Given the description of an element on the screen output the (x, y) to click on. 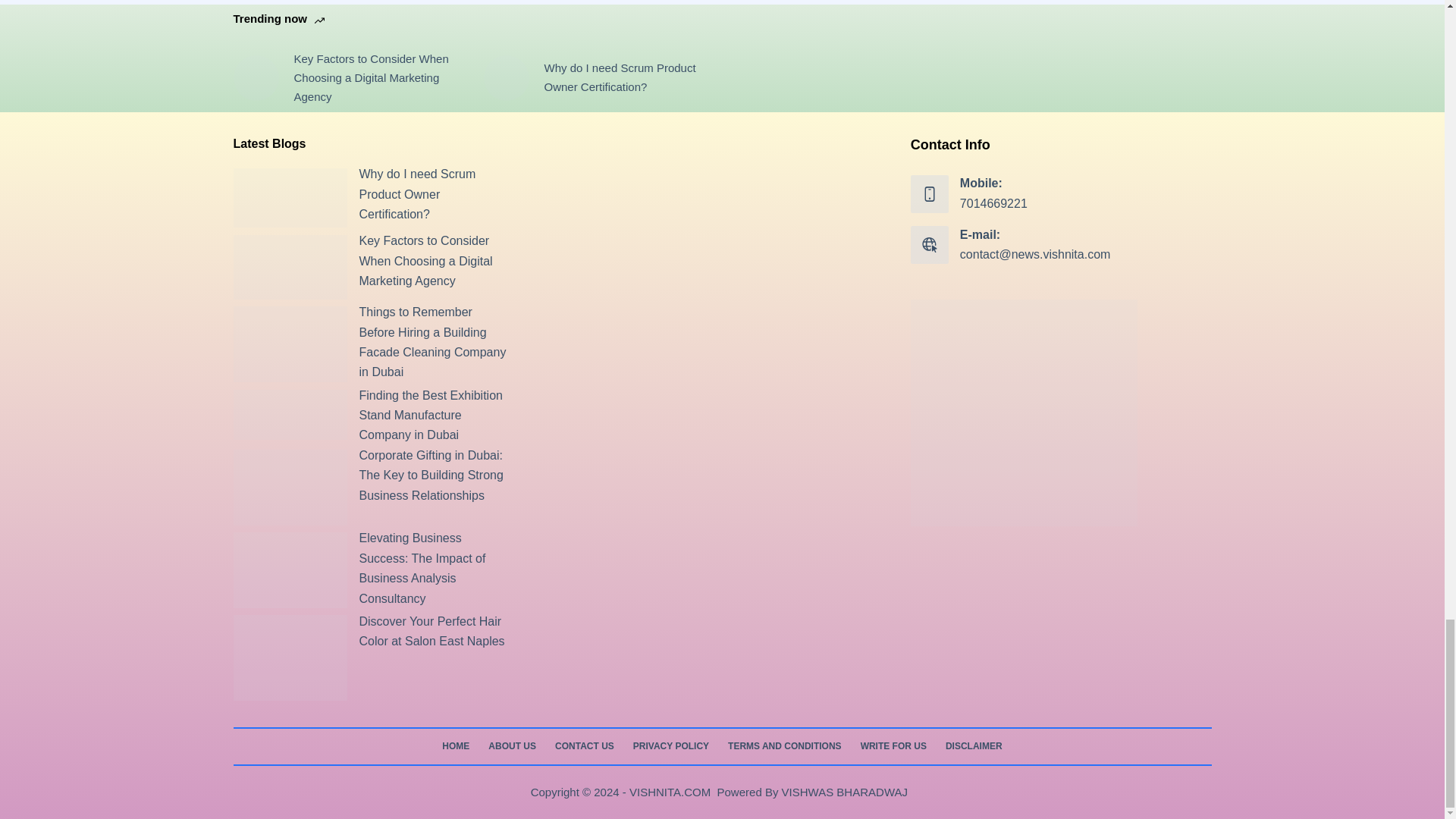
Why do I need Scrum Product Owner Certification? 8 (289, 198)
